Given the description of an element on the screen output the (x, y) to click on. 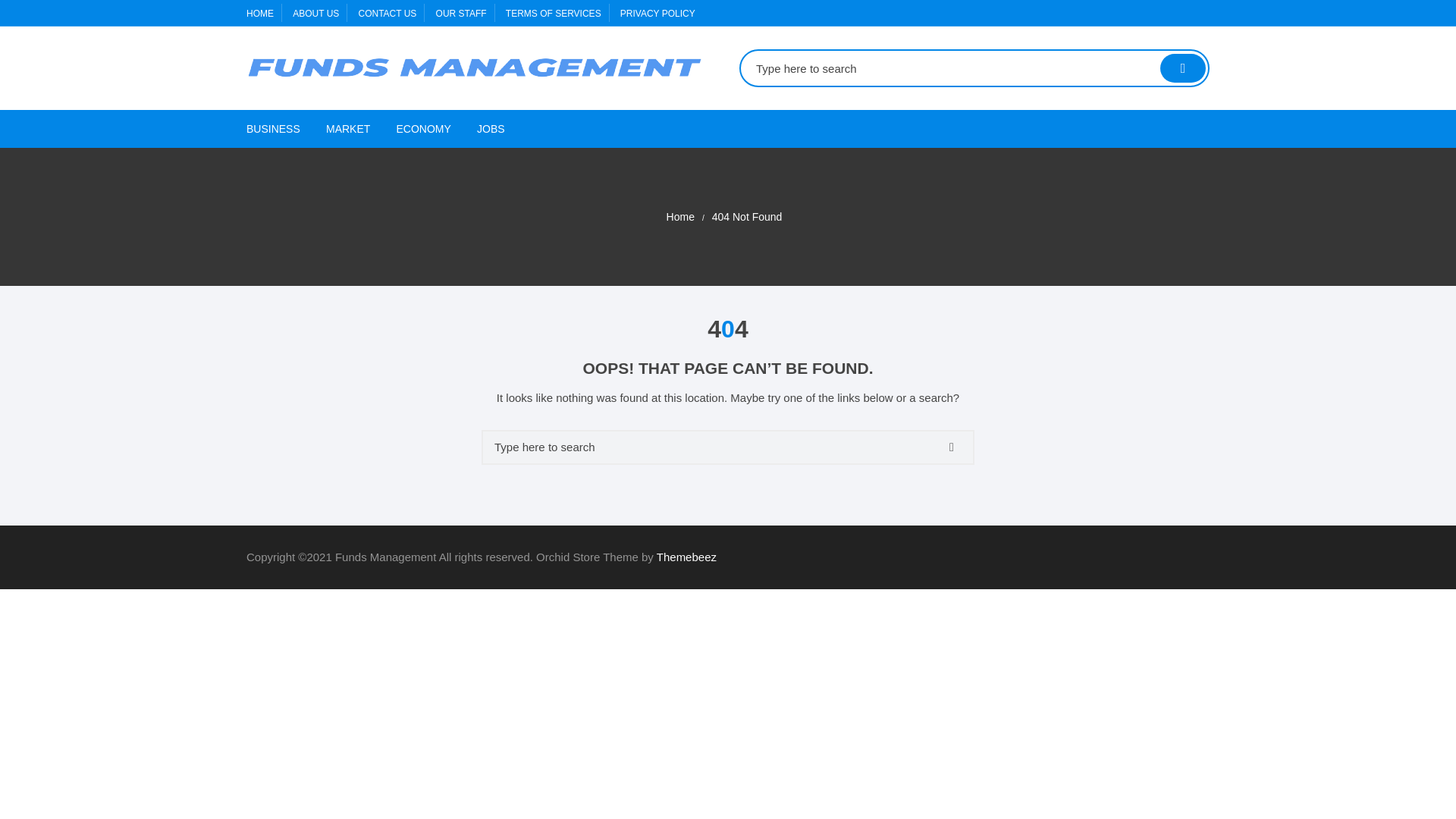
OUR STAFF (460, 13)
BUSINESS (278, 128)
ECONOMY (424, 128)
HOME (259, 13)
ABOUT US (315, 13)
404 Not Found (747, 216)
CONTACT US (387, 13)
JOBS (490, 128)
Themebeez (686, 556)
PRIVACY POLICY (657, 13)
